Given the description of an element on the screen output the (x, y) to click on. 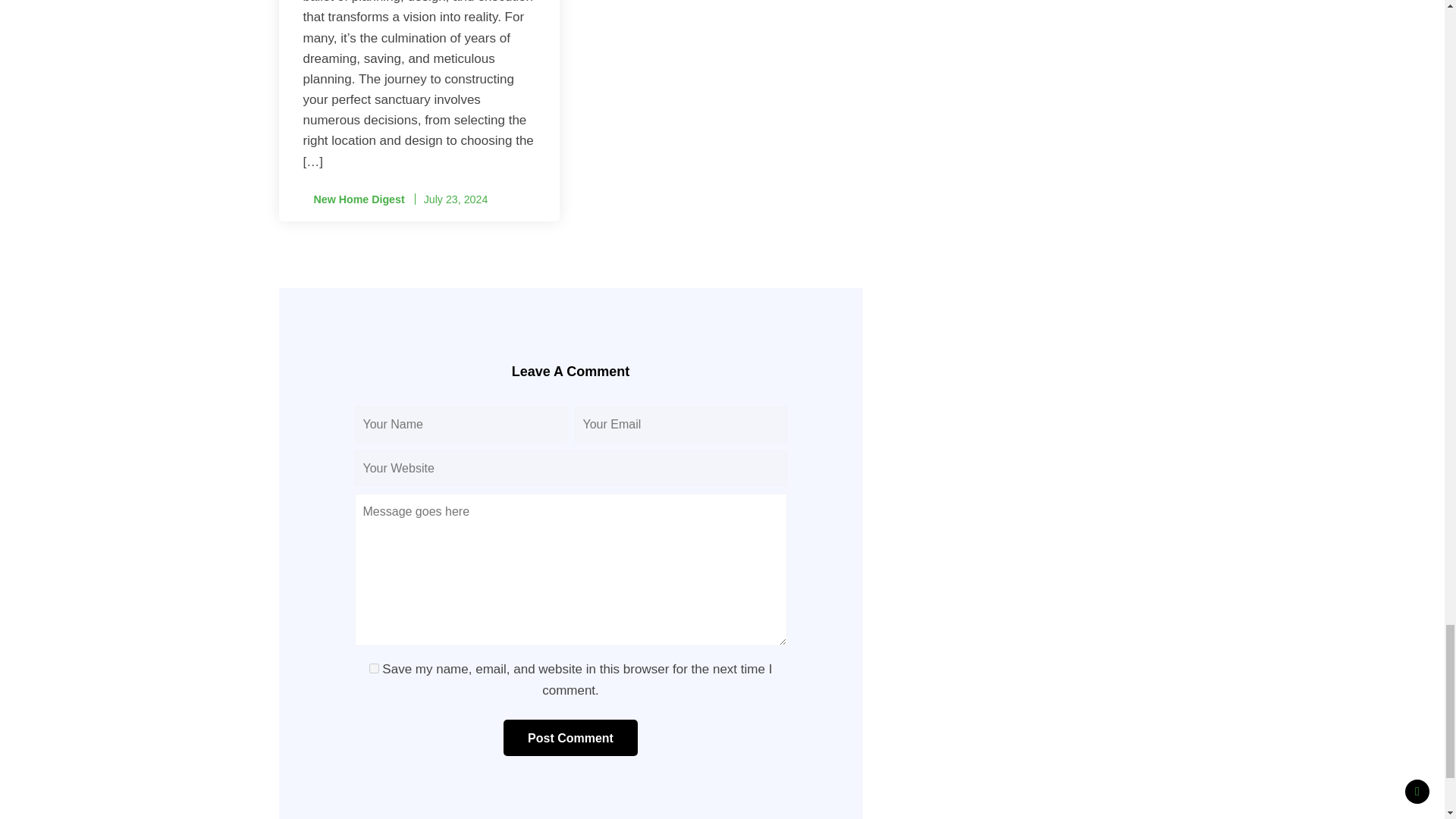
yes (373, 668)
Post Comment (570, 737)
New Home Digest (353, 199)
July 23, 2024 (455, 199)
